Given the description of an element on the screen output the (x, y) to click on. 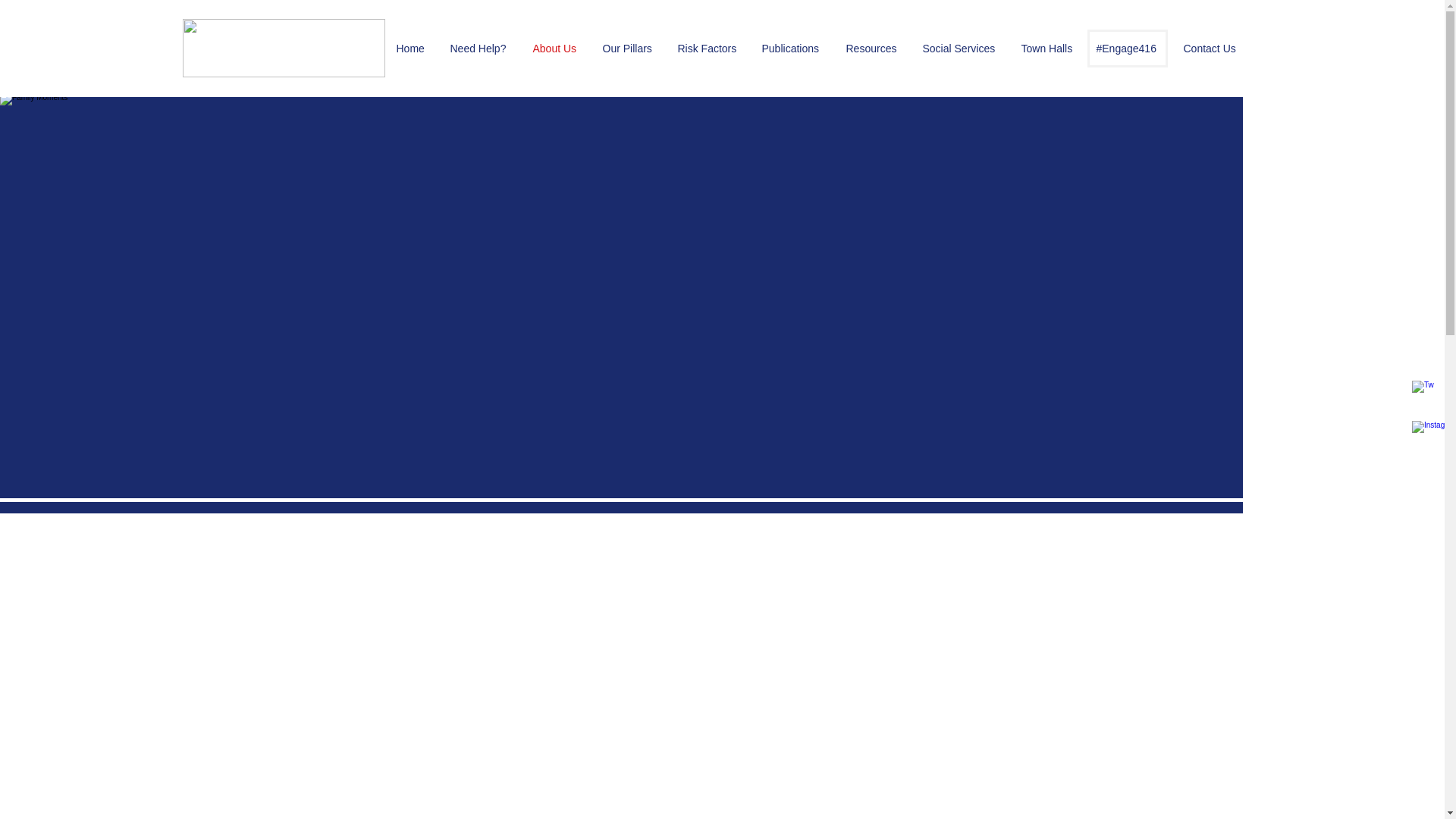
Contact Us (1211, 48)
Need Help? (479, 48)
Our Pillars (628, 48)
Town Halls (1047, 48)
Social Services (960, 48)
Home (412, 48)
Publications (792, 48)
Resources (872, 48)
About Us (556, 48)
Risk Factors (707, 48)
